Given the description of an element on the screen output the (x, y) to click on. 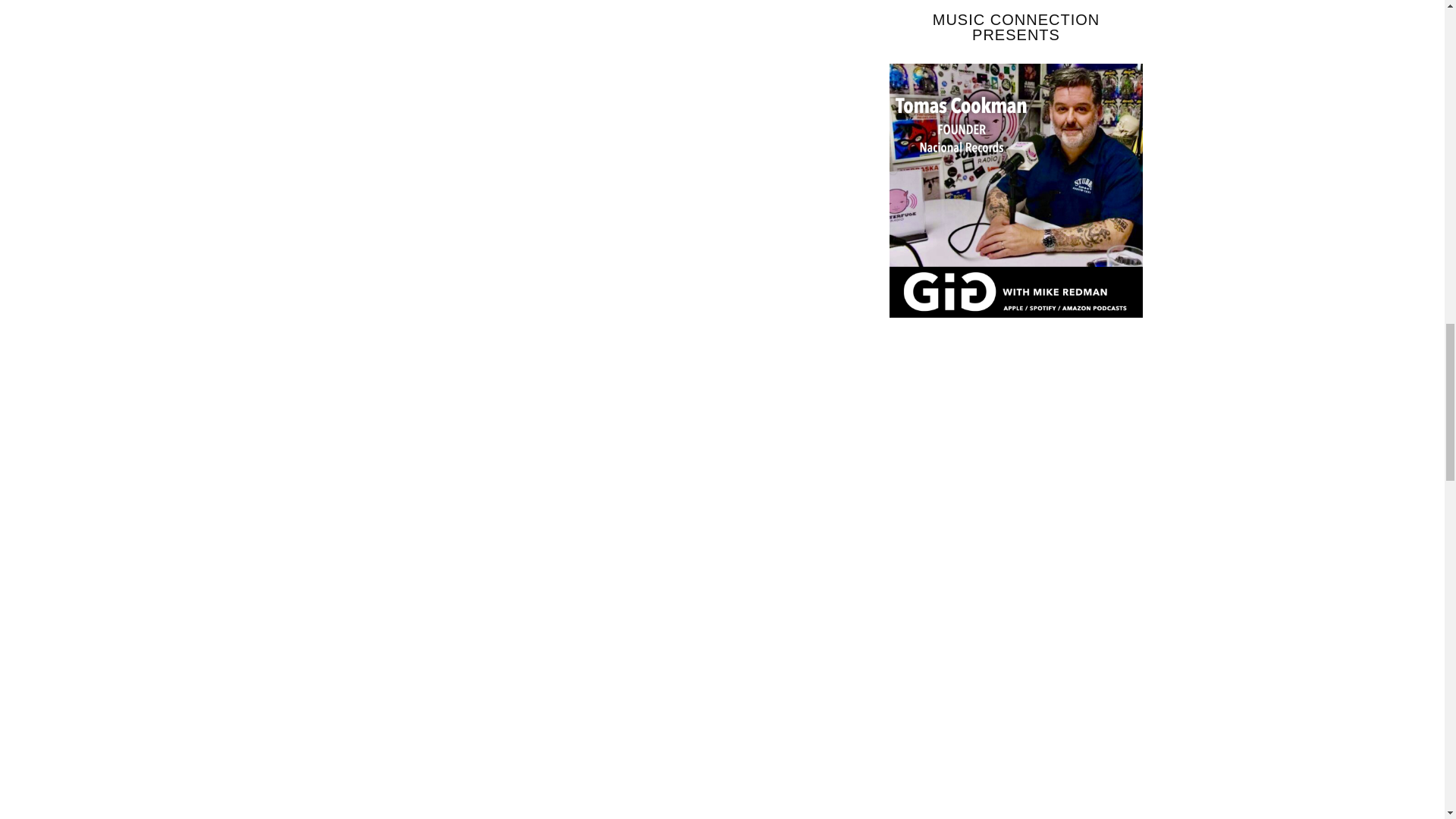
3rd party ad content (1002, 581)
